Given the description of an element on the screen output the (x, y) to click on. 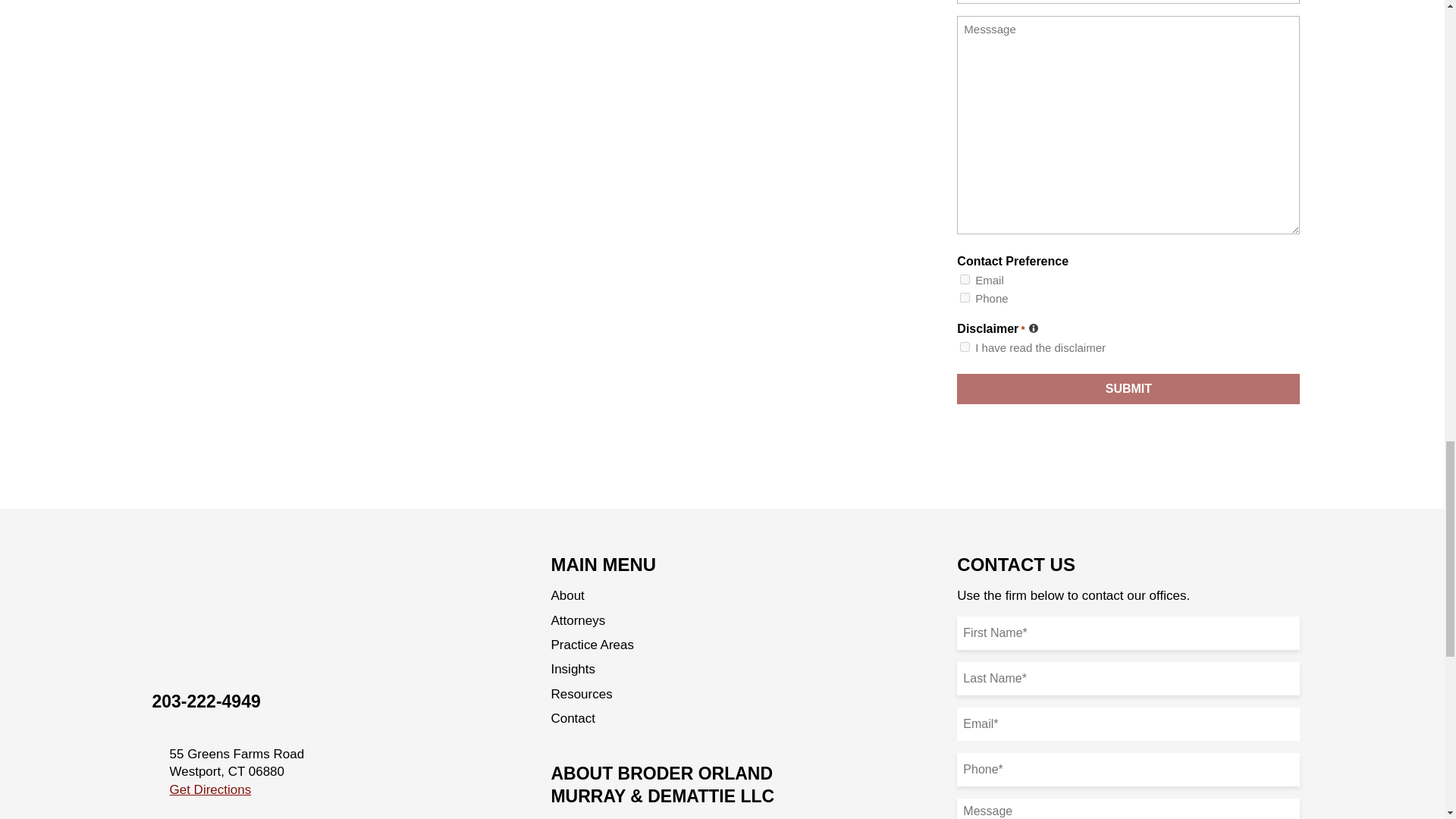
Email (964, 279)
SUBMIT (1128, 388)
I have read the disclaimer (964, 347)
Phone (964, 297)
